Given the description of an element on the screen output the (x, y) to click on. 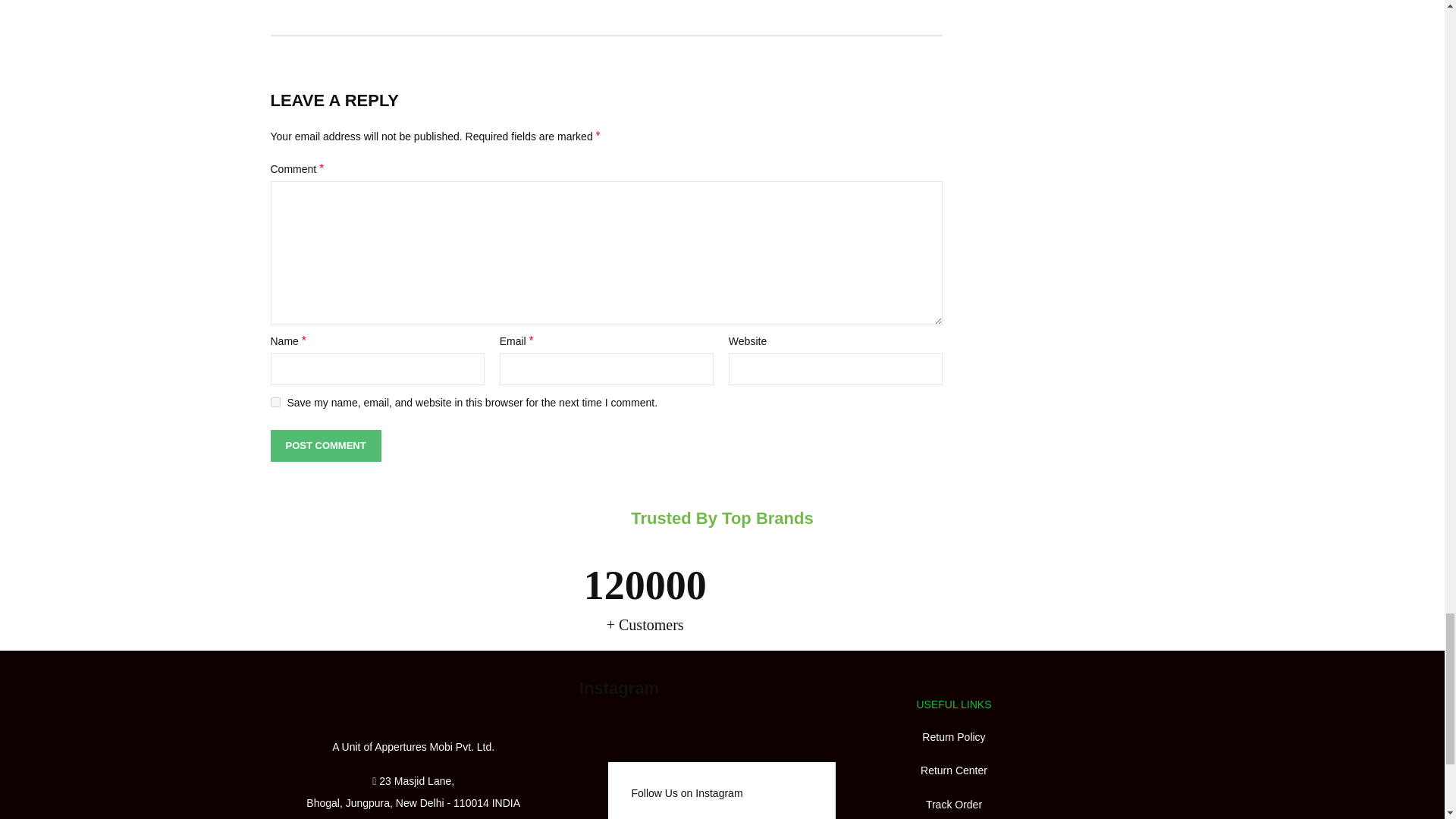
yes (274, 402)
Post Comment (324, 445)
Post Comment (324, 445)
